Given the description of an element on the screen output the (x, y) to click on. 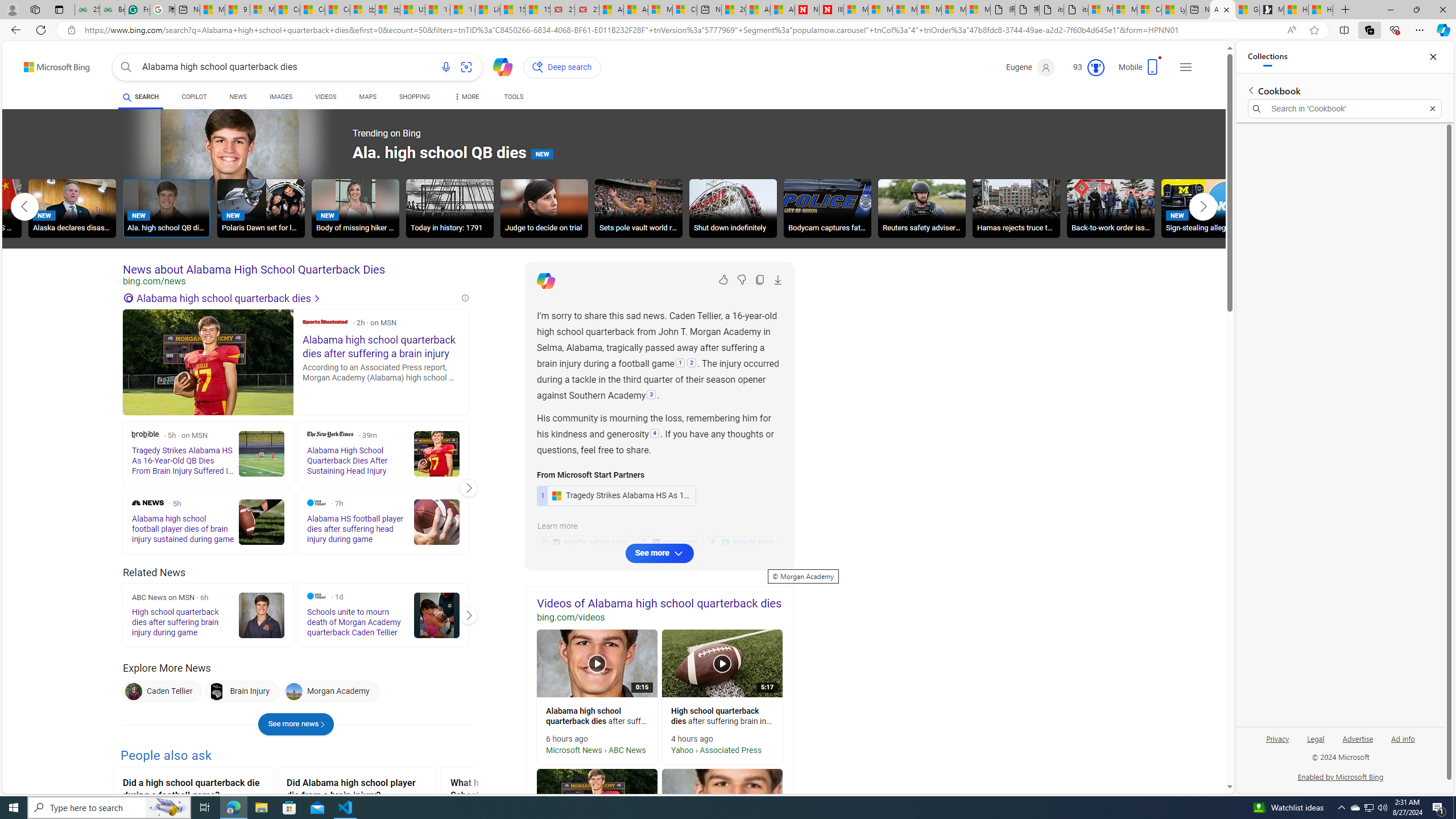
Microsoft Rewards 93 (1083, 67)
Back to list of collections (1250, 90)
Shut down indefinitely (732, 207)
Reuters safety adviser killed (921, 207)
Click to scroll left (25, 206)
Hamas rejects truce terms (1015, 207)
